Given the description of an element on the screen output the (x, y) to click on. 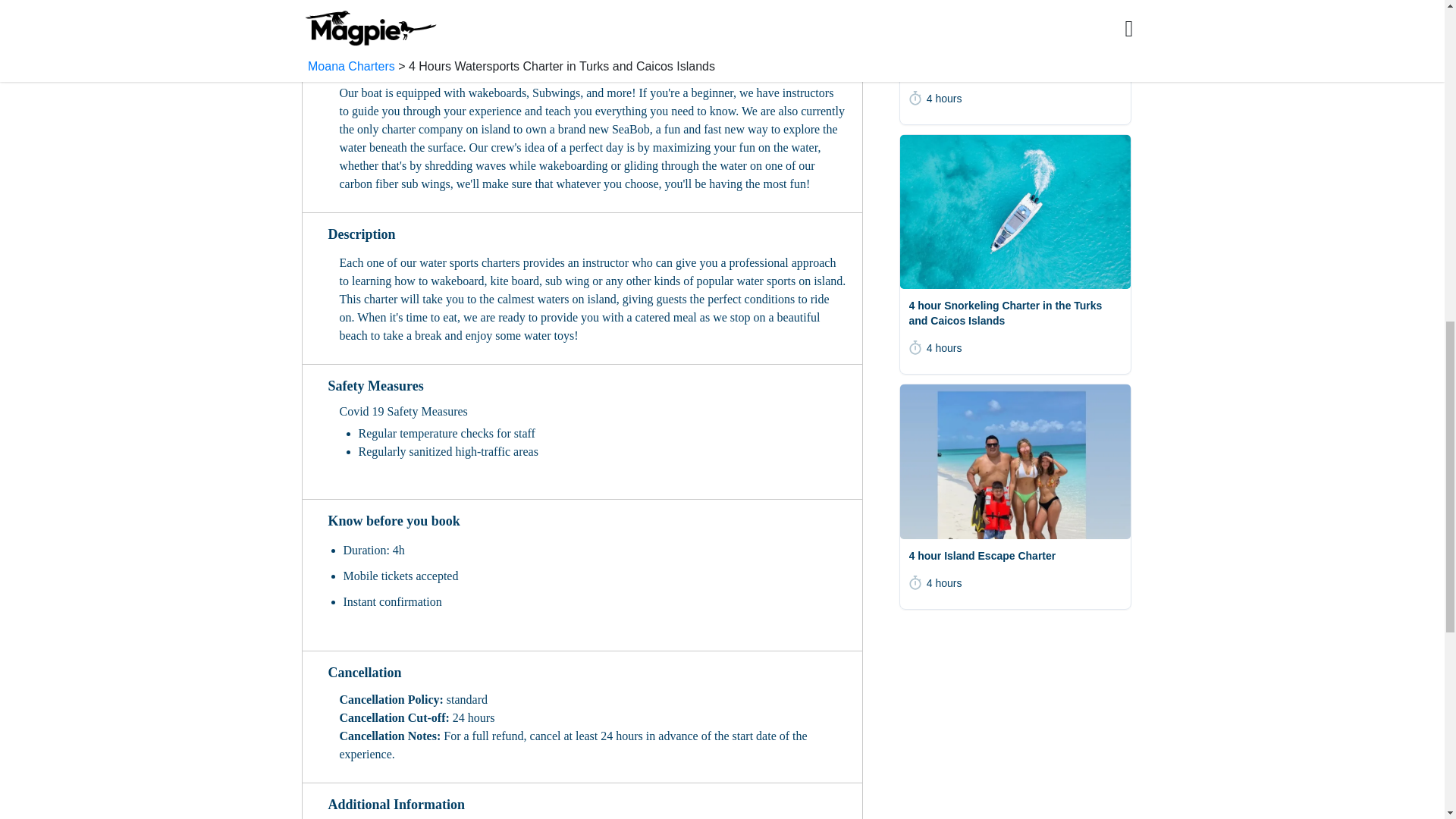
Excluded (584, 15)
